Given the description of an element on the screen output the (x, y) to click on. 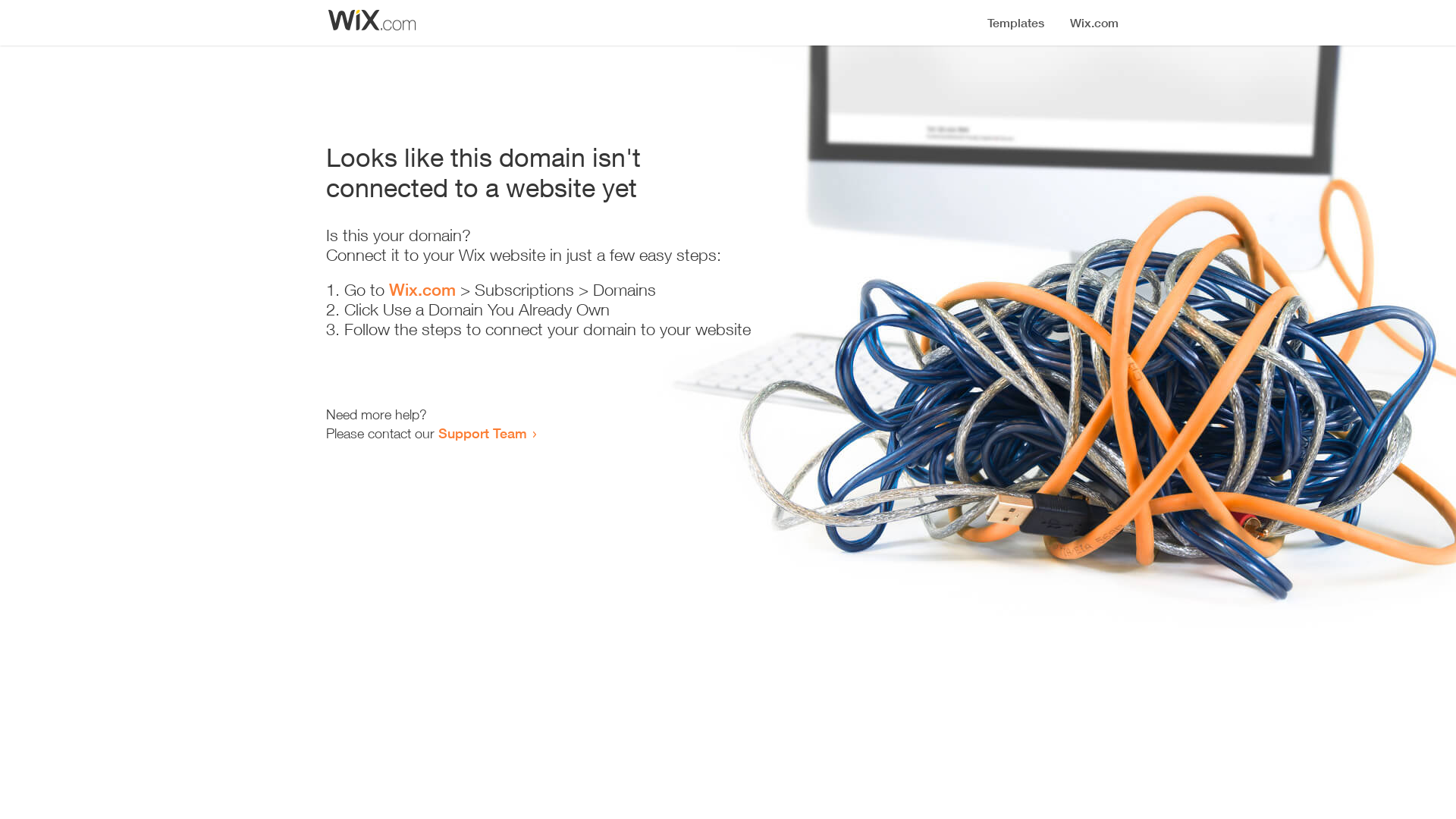
Wix.com Element type: text (422, 289)
Support Team Element type: text (482, 432)
